Given the description of an element on the screen output the (x, y) to click on. 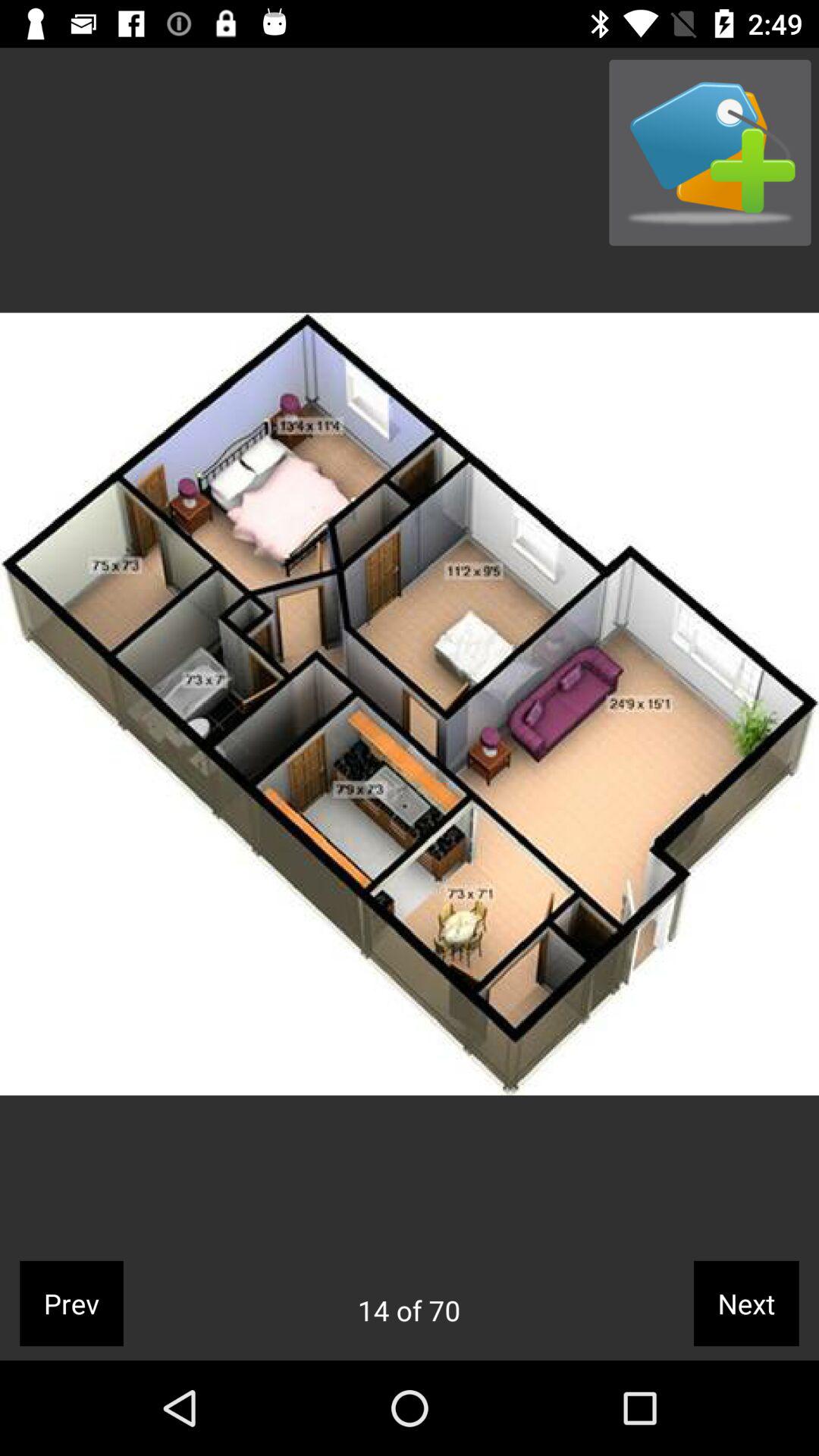
choose icon at the top right corner (710, 152)
